Given the description of an element on the screen output the (x, y) to click on. 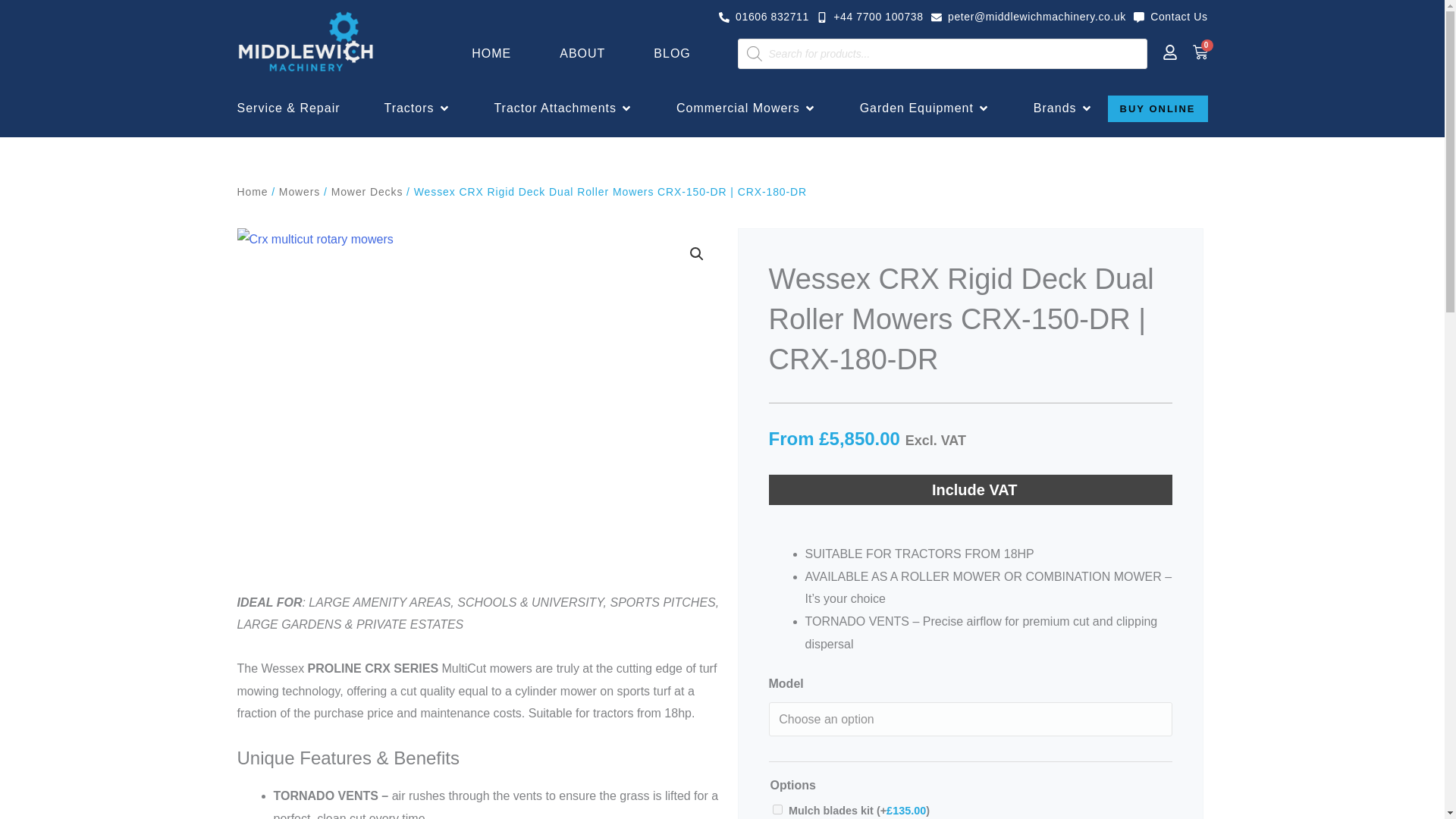
Tractors (408, 108)
With VAT removed (1199, 52)
01606 832711 (867, 439)
mulch-blades-kit (764, 17)
ABOUT (776, 809)
BLOG (582, 53)
Contact Us (671, 53)
Crx Multicut Rotary Mowers 1 (1171, 17)
